Given the description of an element on the screen output the (x, y) to click on. 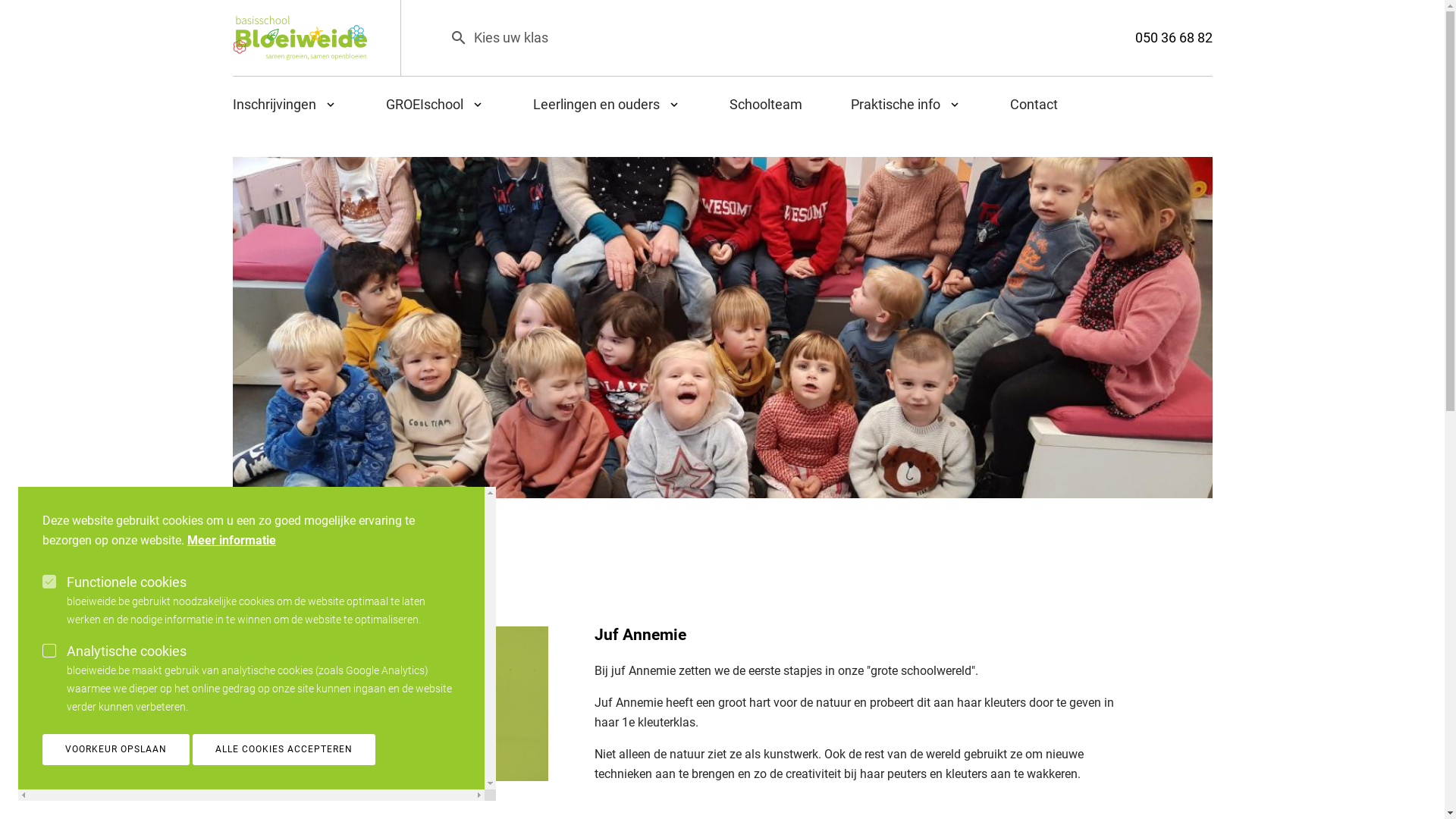
Klassen Element type: text (294, 515)
Schoolteam Element type: text (765, 104)
Praktische info Element type: text (905, 104)
Bloeiweide Element type: hover (299, 37)
VOORKEUR OPSLAAN Element type: text (115, 749)
Meer informatie Element type: text (231, 540)
050 36 68 82 Element type: text (1172, 36)
Juf Annemie Element type: hover (432, 703)
GROEIschool Element type: text (434, 104)
Leerlingen en ouders Element type: text (606, 104)
ALLE COOKIES ACCEPTEREN Element type: text (283, 749)
Contact Element type: text (1021, 104)
Home Element type: text (259, 515)
Inschrijvingen Element type: text (296, 104)
